Given the description of an element on the screen output the (x, y) to click on. 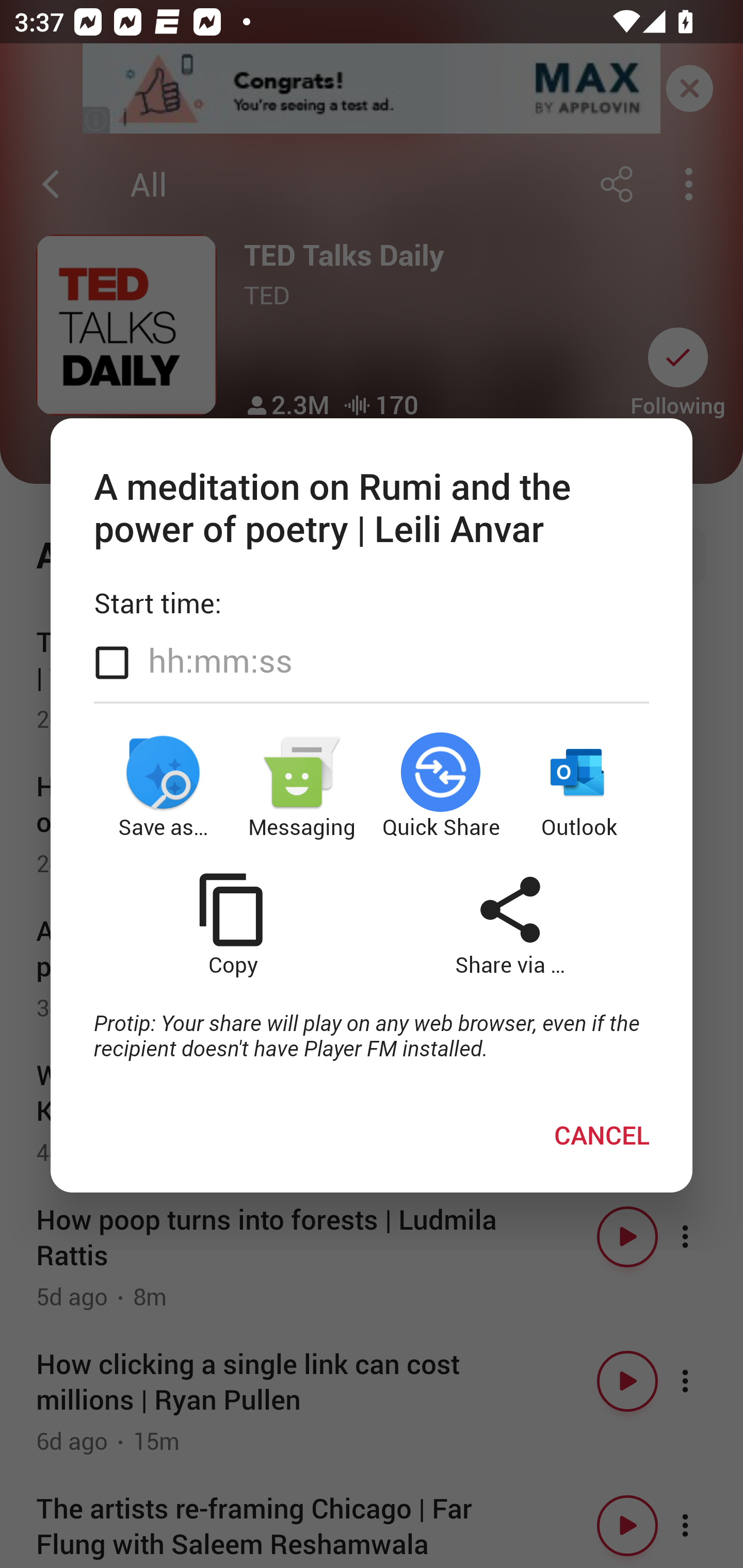
hh:mm:ss (220, 659)
Save as… (163, 787)
Messaging (301, 787)
Quick Share (440, 787)
Outlook (579, 787)
Copy (232, 924)
Share via … (509, 924)
CANCEL (600, 1134)
